Given the description of an element on the screen output the (x, y) to click on. 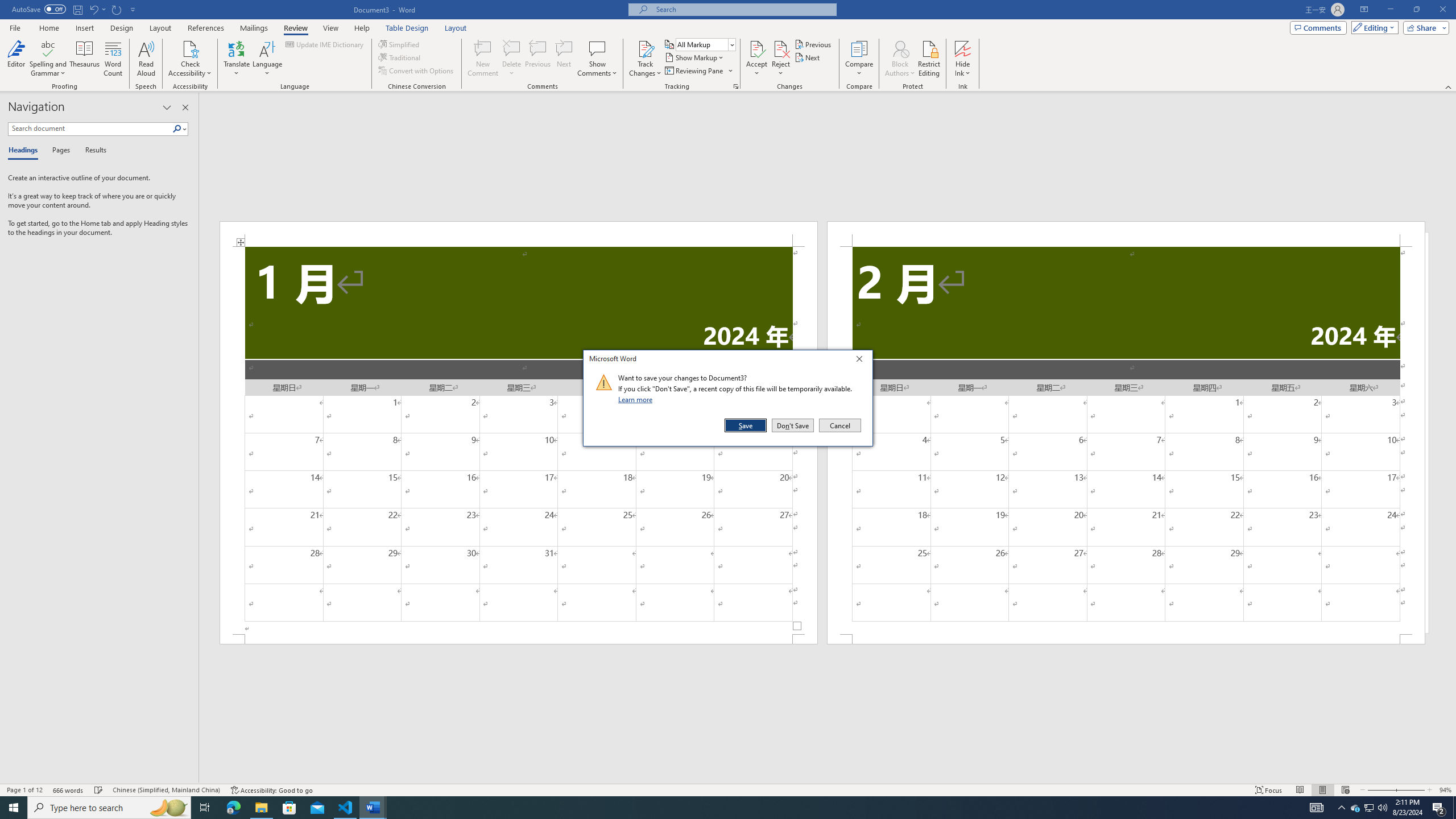
Spelling and Grammar (48, 58)
Thesaurus... (84, 58)
Reject and Move to Next (780, 48)
Footer -Section 2- (1126, 638)
Block Authors (900, 48)
Next (808, 56)
Undo Increase Indent (96, 9)
